Given the description of an element on the screen output the (x, y) to click on. 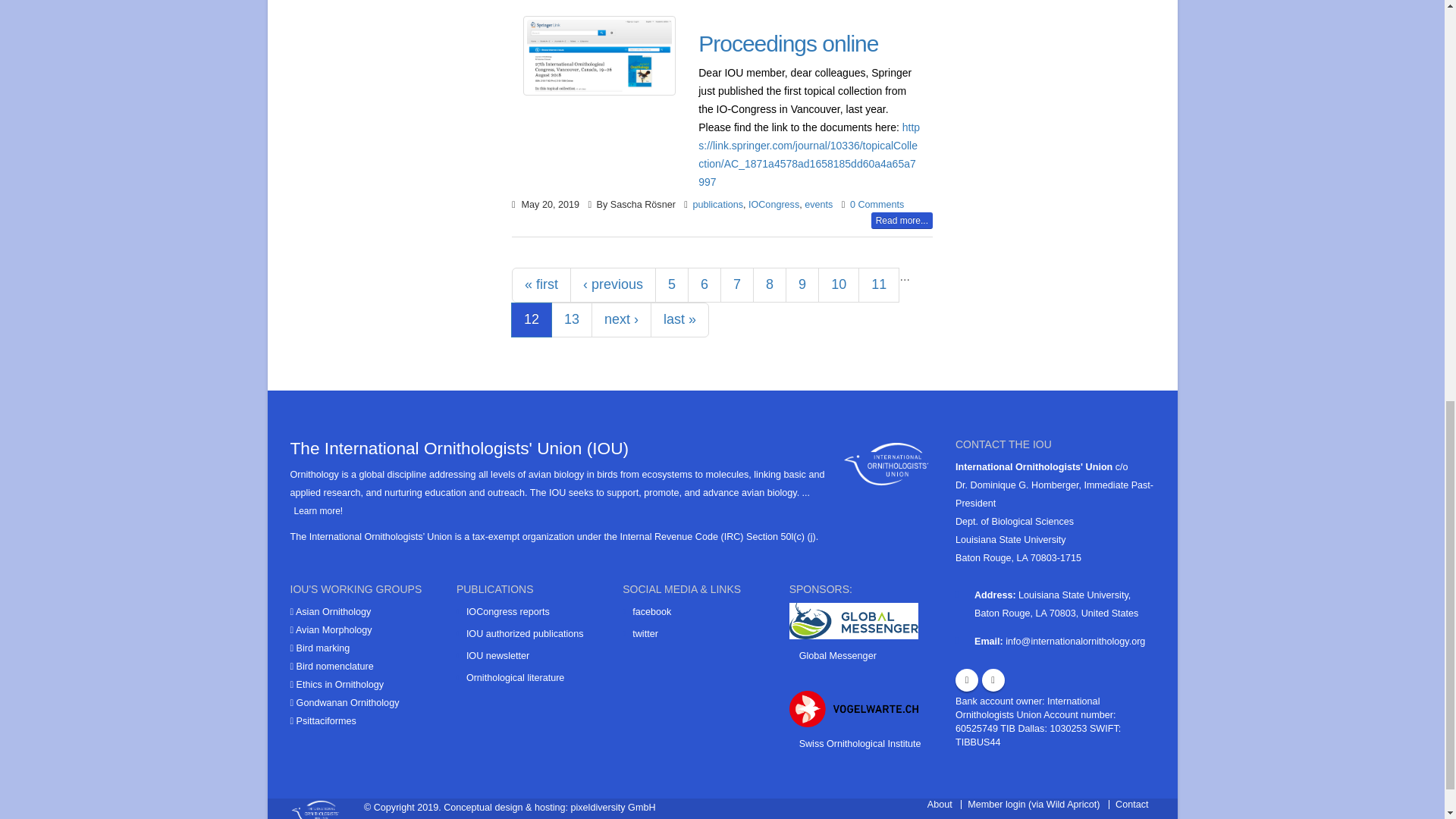
Go to previous page (613, 284)
Go to page 7 (737, 284)
Go to page 10 (838, 284)
Go to first page (541, 284)
Go to page 6 (703, 284)
Go to page 5 (671, 284)
Go to page 8 (769, 284)
Go to page 9 (802, 284)
